Given the description of an element on the screen output the (x, y) to click on. 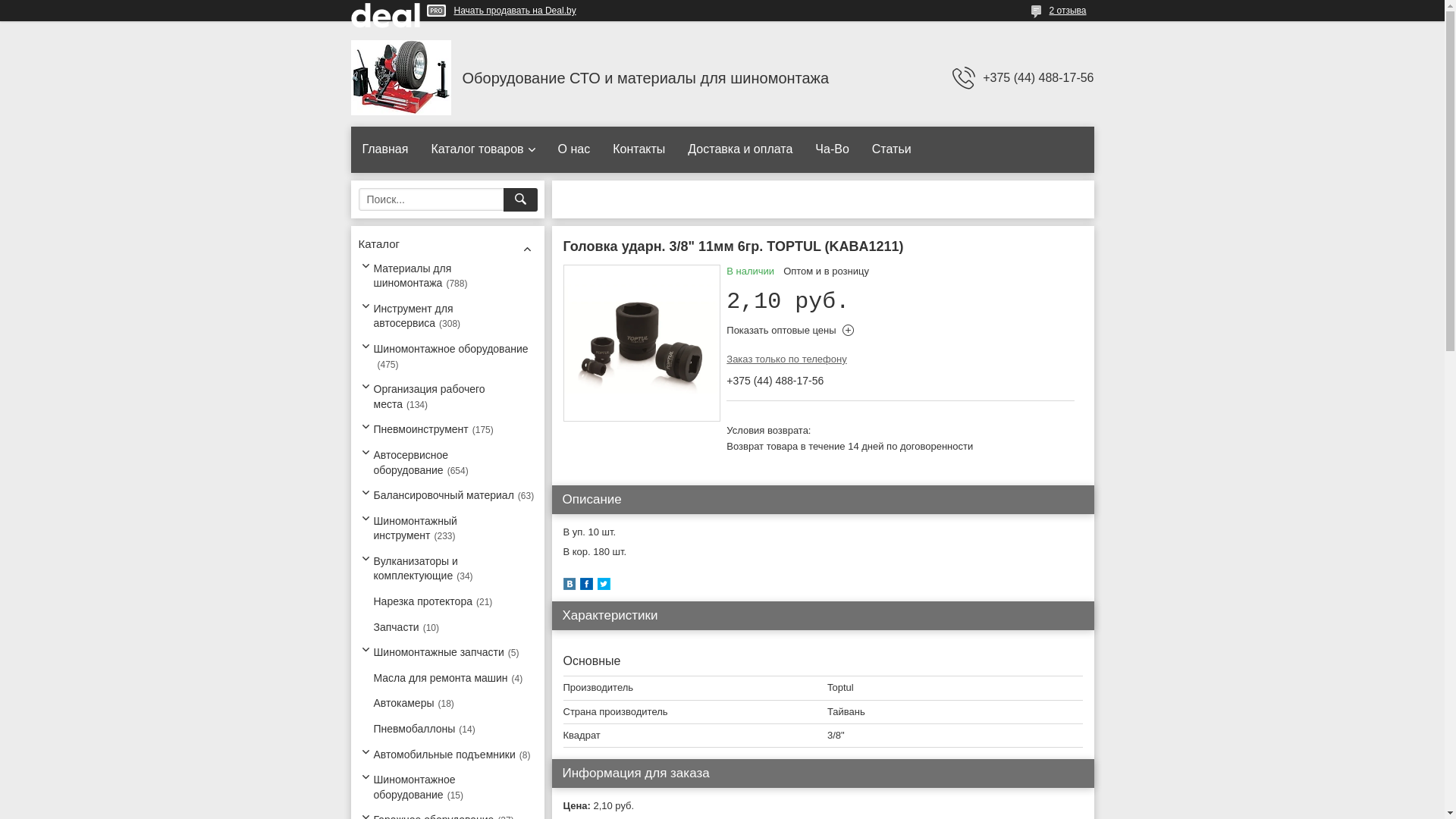
facebook Element type: hover (585, 586)
twitter Element type: hover (603, 586)
